Given the description of an element on the screen output the (x, y) to click on. 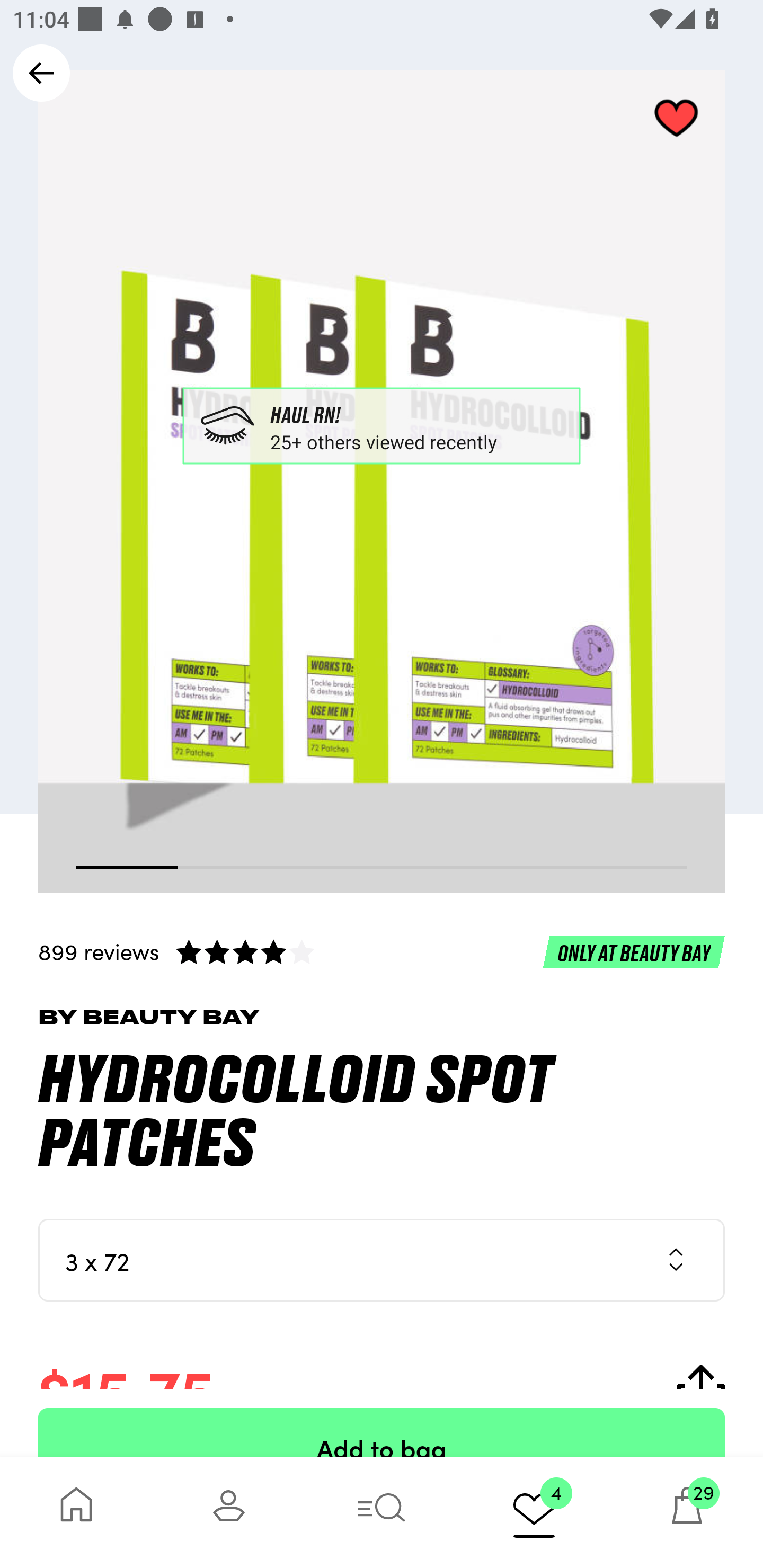
899 reviews (381, 950)
3 x 72    (381, 1259)
4 (533, 1512)
29 (686, 1512)
